Given the description of an element on the screen output the (x, y) to click on. 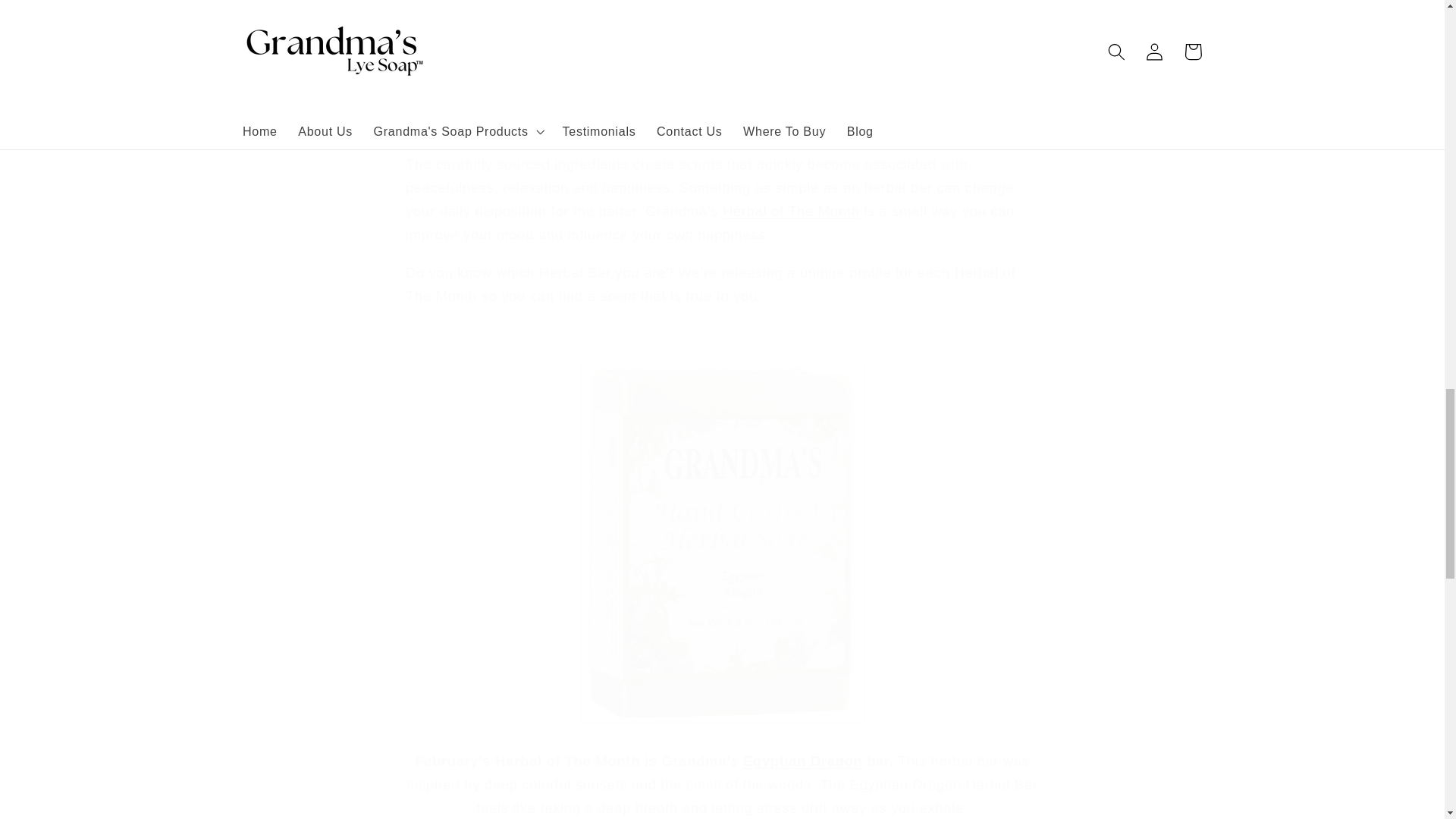
GRANDMA'S EGYPTIAN DRAGON HERBAL SOAP (721, 722)
HERBAL OF THE MONTH (790, 211)
GRANDMA'S EGYPTIAN DRAGON HERBAL SOAP (801, 760)
